Given the description of an element on the screen output the (x, y) to click on. 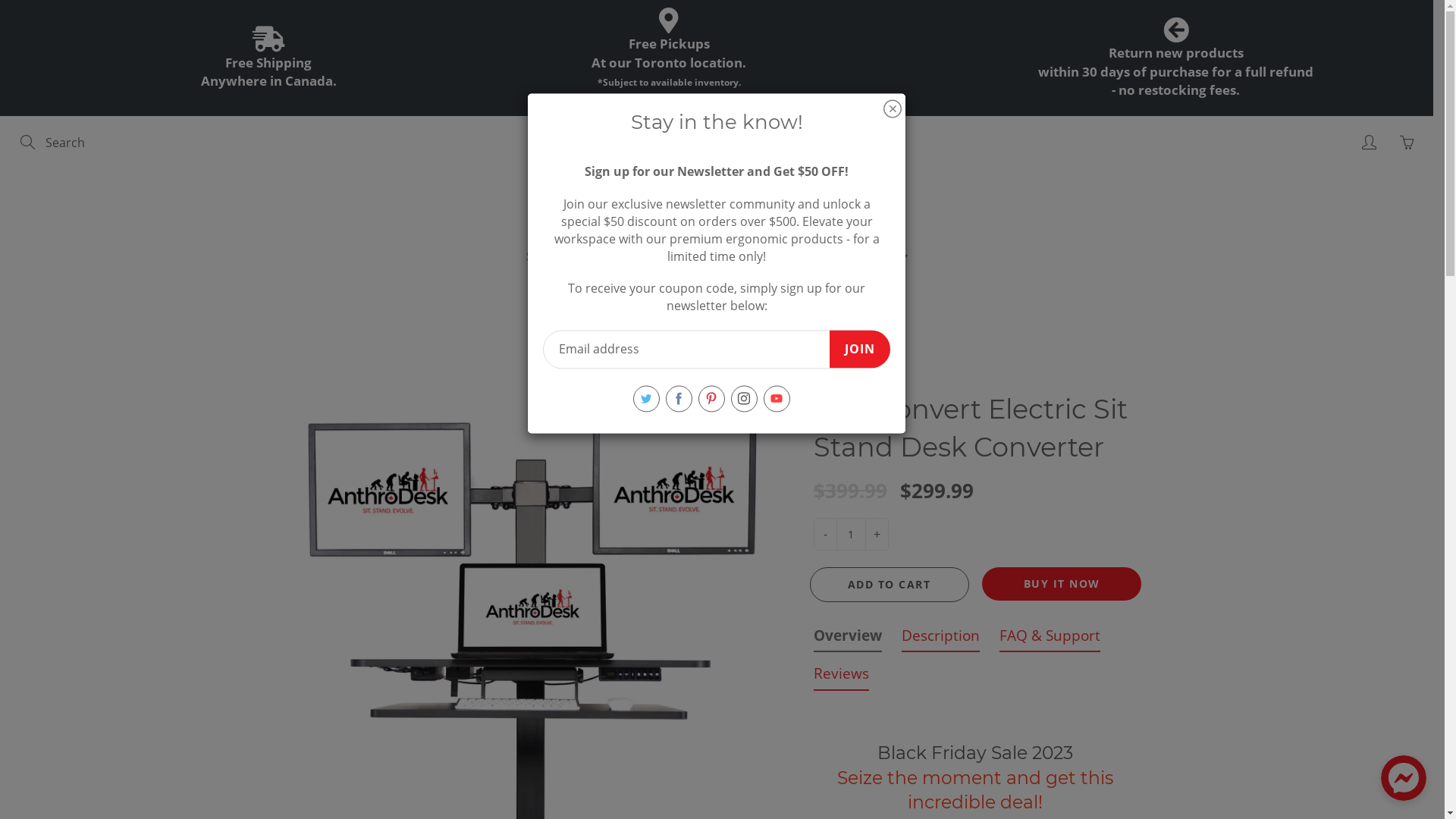
You have 0 items in your cart Element type: text (1406, 142)
Search Element type: text (28, 142)
BUY IT NOW Element type: text (1061, 583)
Twitter Element type: hover (645, 398)
STANDING DESKS Element type: text (582, 256)
- Element type: text (825, 533)
CONVERTERS Element type: text (724, 256)
+ Element type: text (877, 533)
FAQ & Support Element type: text (1049, 638)
Overview Element type: text (846, 638)
JOIN Element type: text (859, 348)
Home Element type: text (590, 320)
Reviews Element type: text (840, 676)
contact us Element type: text (657, 100)
ACCESSORIES Element type: text (857, 256)
YouTube Element type: hover (775, 398)
My account Element type: text (1368, 142)
Facebook Element type: hover (678, 398)
Pinterest Element type: hover (710, 398)
Instagram Element type: hover (744, 398)
Description Element type: text (939, 638)
ADD TO CART Element type: text (889, 584)
